Given the description of an element on the screen output the (x, y) to click on. 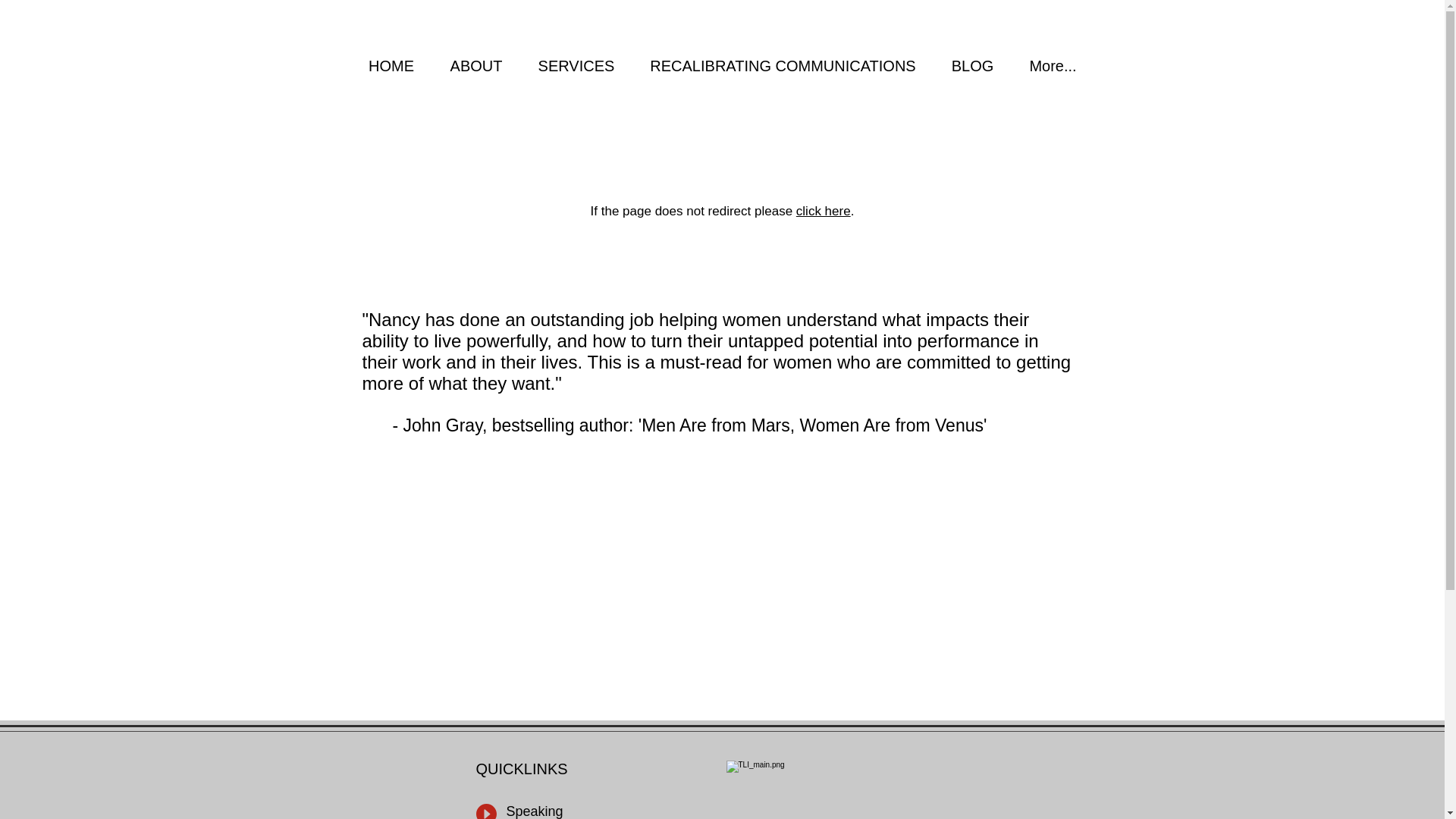
BLOG (971, 66)
SERVICES (575, 66)
click here (823, 210)
ABOUT (475, 66)
RECALIBRATING COMMUNICATIONS (782, 66)
HOME (390, 66)
